Given the description of an element on the screen output the (x, y) to click on. 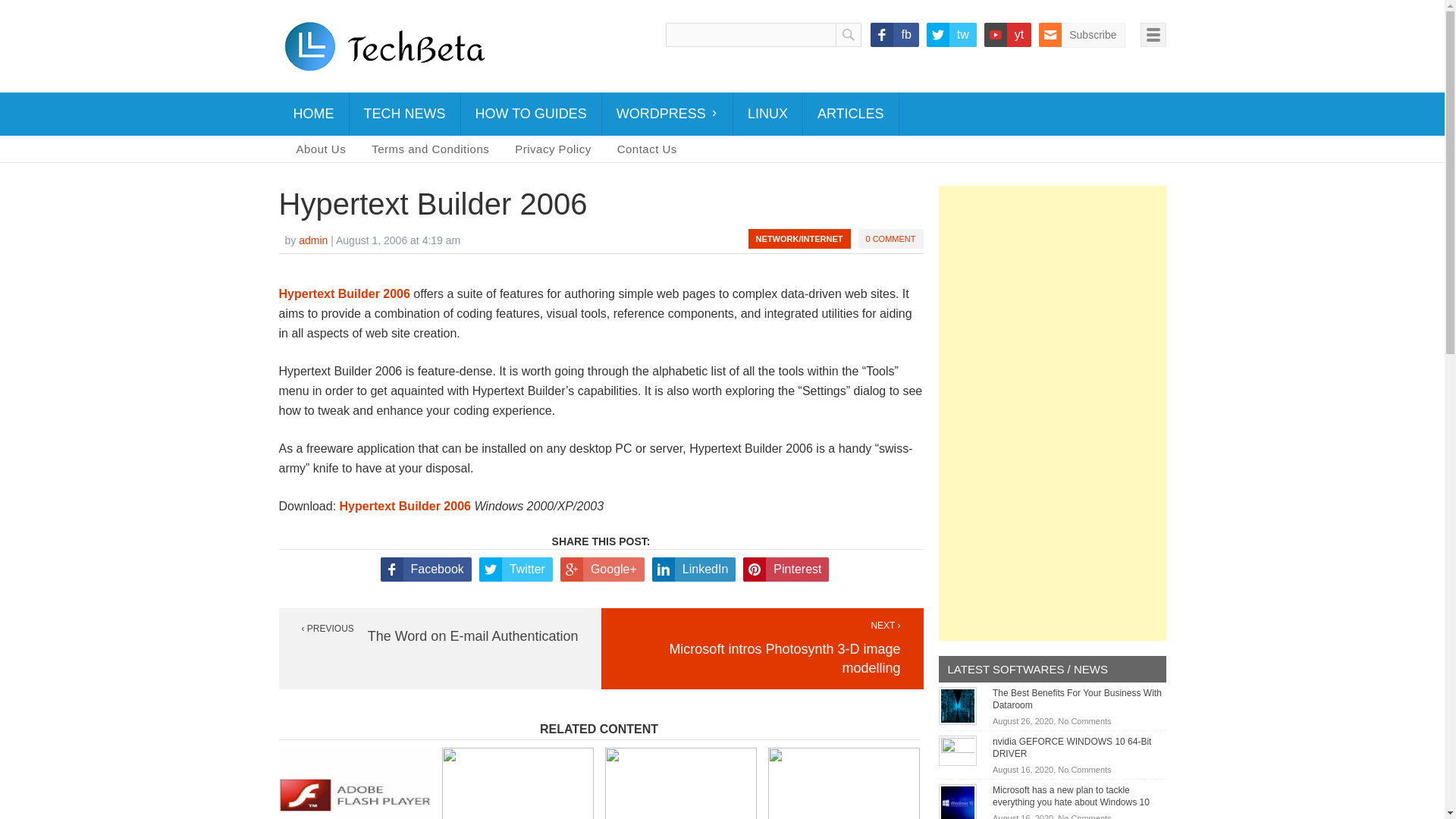
Subscribe (1081, 34)
TECH NEWS (404, 113)
nvidia GEFORCE WINDOWS 10 64-Bit DRIVER (1071, 747)
nvidia GEFORCE WINDOWS 10 64-Bit DRIVER (957, 749)
View all posts by admin (312, 240)
yt (1007, 34)
WORDPRESS (667, 113)
The Best Benefits For Your Business With Dataroom (957, 705)
The Best Benefits For Your Business With Dataroom (1076, 698)
